Given the description of an element on the screen output the (x, y) to click on. 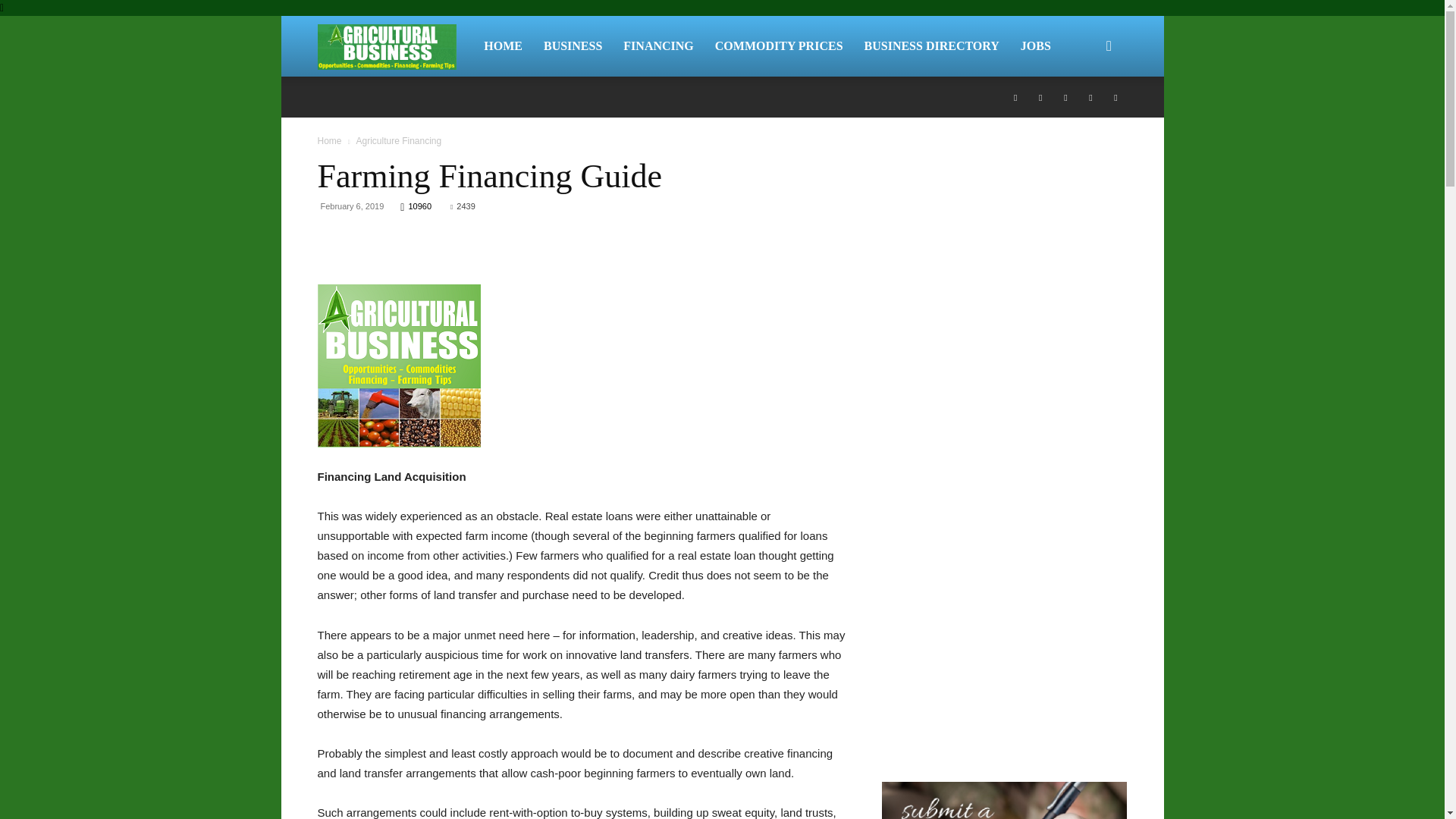
HOME (502, 45)
BUSINESS DIRECTORY (931, 45)
BUSINESS (572, 45)
Home (328, 140)
2439 (462, 205)
Agricultural Business Information (395, 45)
Agriculture Business Information (387, 47)
Search (1085, 119)
FINANCING (657, 45)
COMMODITY PRICES (778, 45)
